Given the description of an element on the screen output the (x, y) to click on. 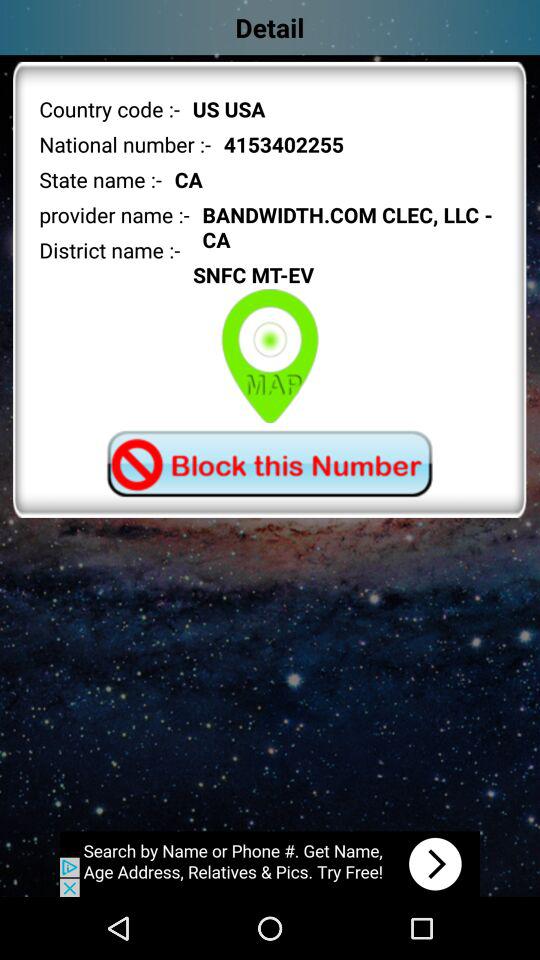
advertisement for app to get information and pictures on people with arrow pointing to right (270, 864)
